Given the description of an element on the screen output the (x, y) to click on. 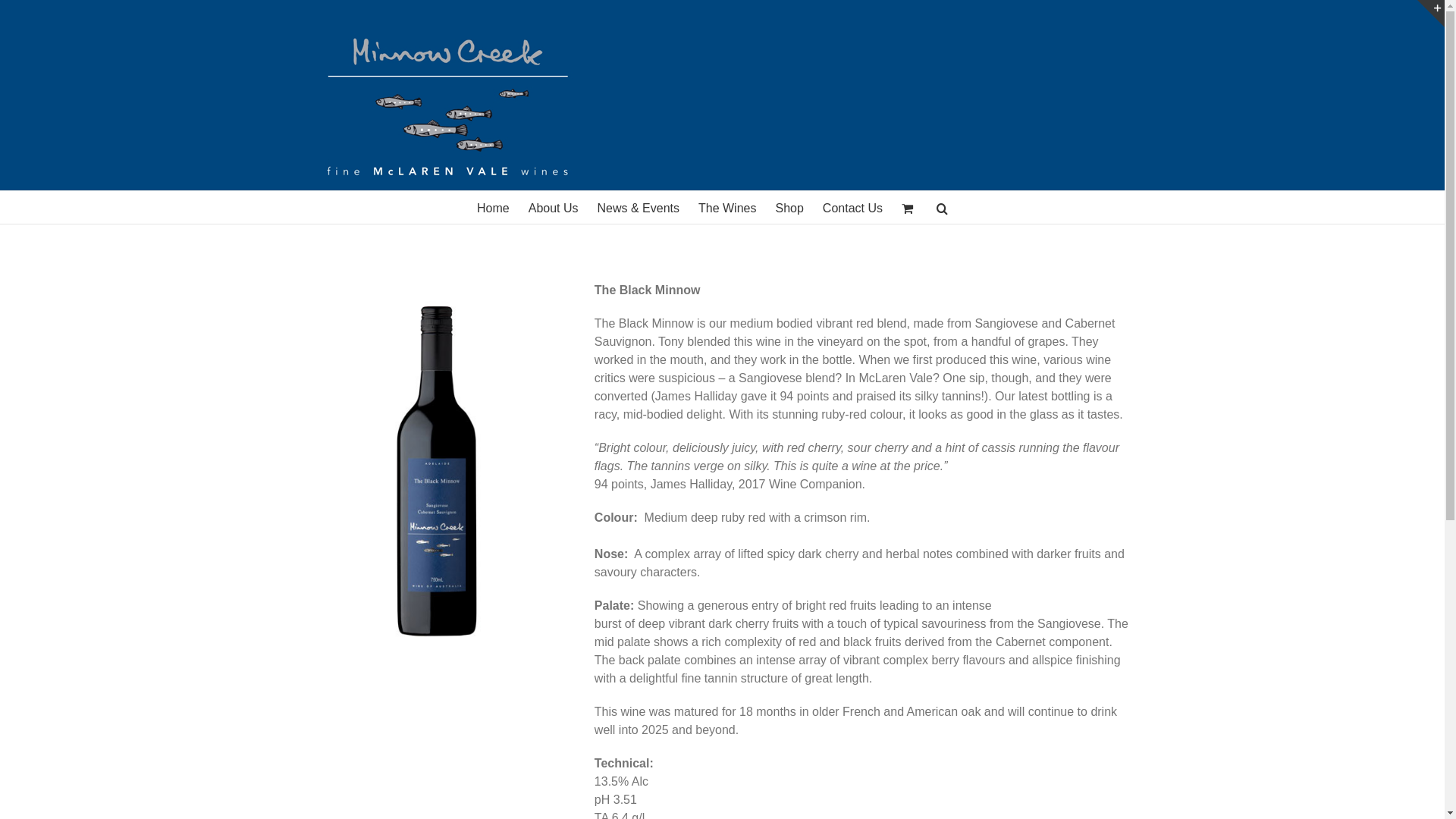
Search Element type: hover (942, 207)
Shop Element type: text (789, 207)
Home Element type: text (492, 207)
About Us Element type: text (553, 207)
Toggle Sliding Bar Area Element type: text (1430, 13)
The Wines Element type: text (727, 207)
Contact Us Element type: text (852, 207)
The Black Minnow 2018 Element type: hover (432, 468)
News & Events Element type: text (638, 207)
